Given the description of an element on the screen output the (x, y) to click on. 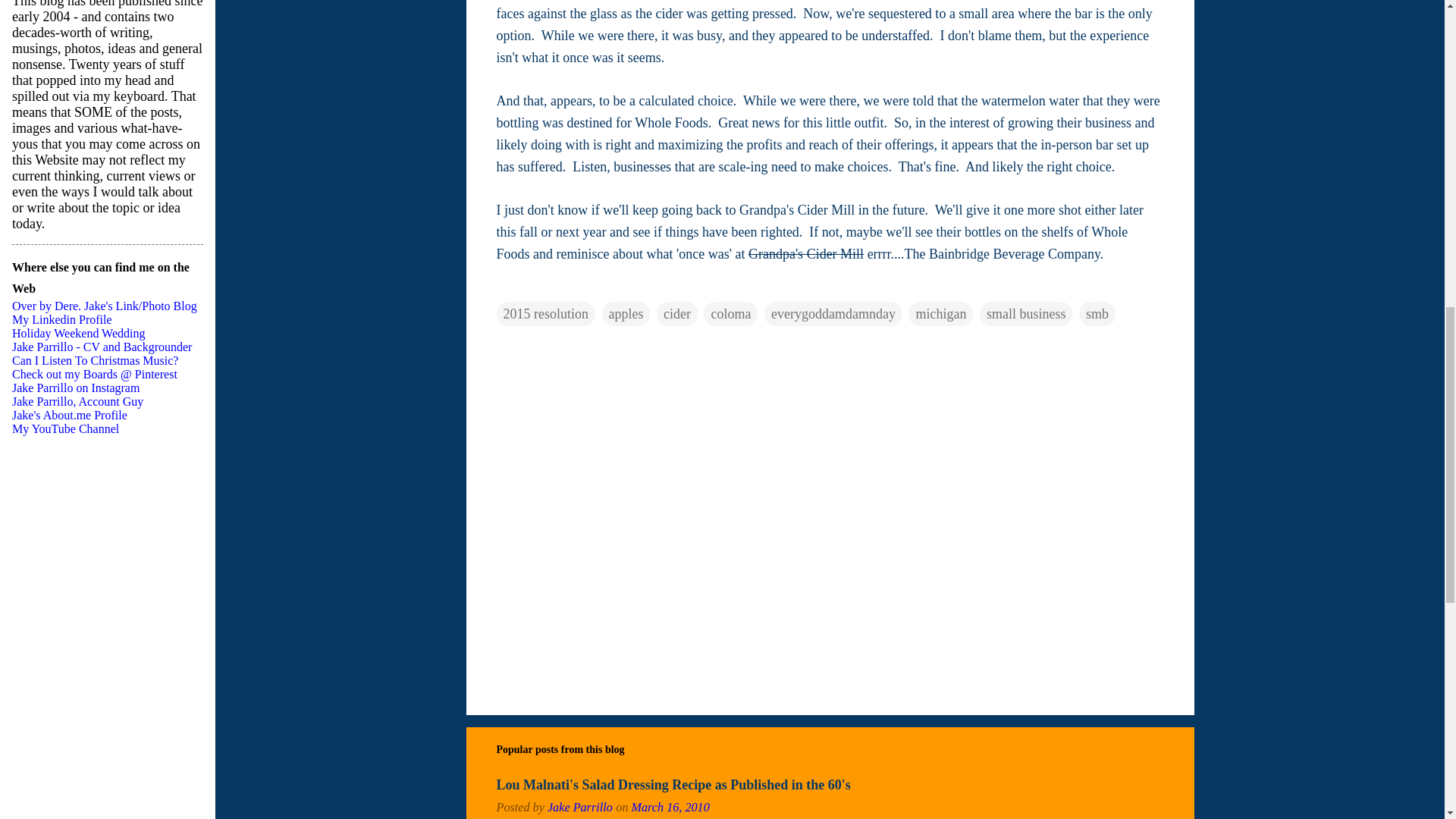
cider (676, 313)
small business (1026, 313)
smb (1096, 313)
coloma (730, 313)
everygoddamdamnday (833, 313)
March 16, 2010 (670, 807)
apples (626, 313)
author profile (579, 807)
Lou Malnati's Salad Dressing Recipe as Published in the 60's (673, 784)
2015 resolution (545, 313)
michigan (940, 313)
Jake Parrillo (579, 807)
permanent link (670, 807)
